Given the description of an element on the screen output the (x, y) to click on. 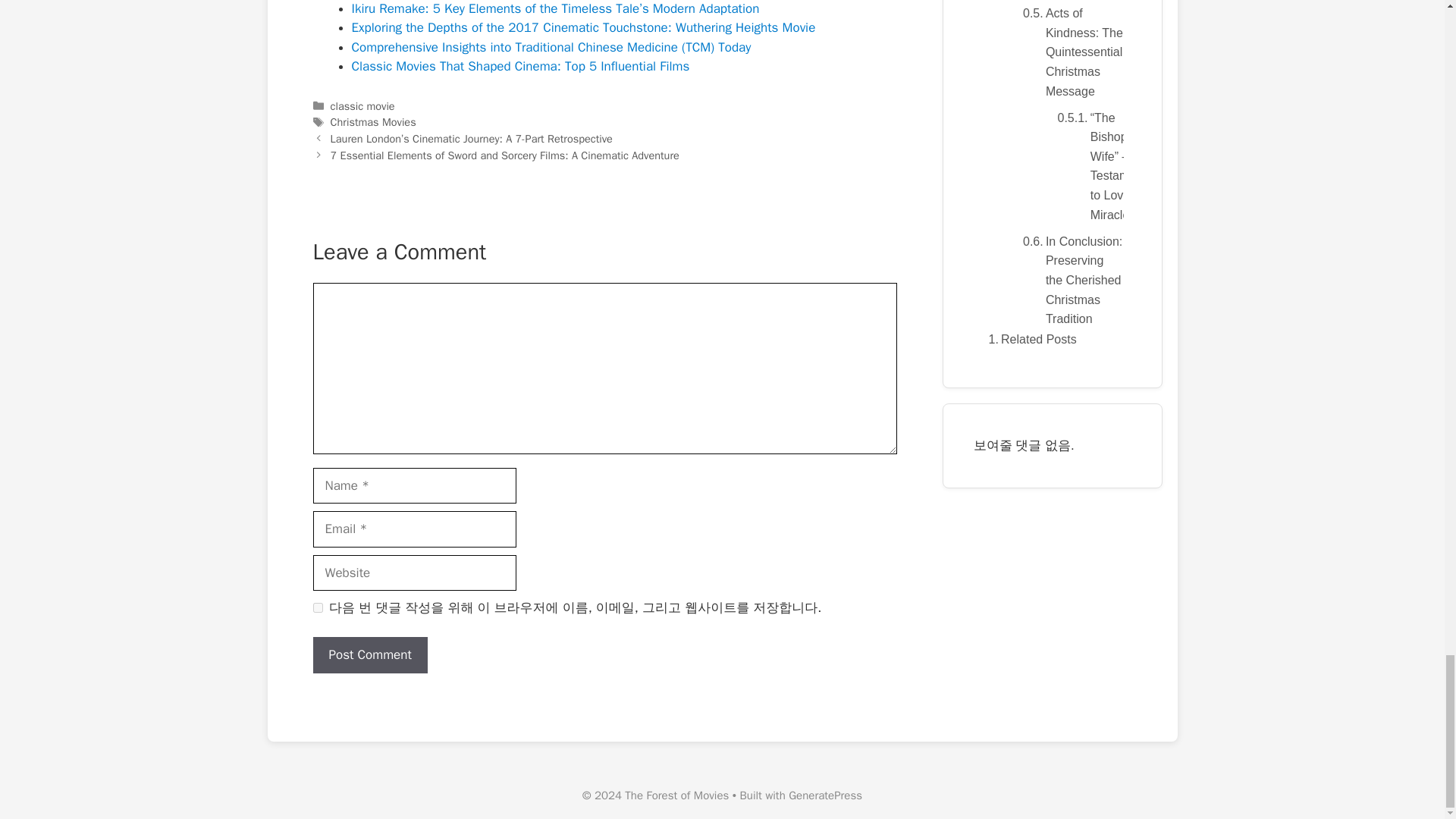
Post Comment (369, 655)
Classic Movies That Shaped Cinema: Top 5 Influential Films (521, 66)
Christmas Movies (373, 121)
classic movie (362, 106)
yes (317, 607)
Post Comment (369, 655)
